Given the description of an element on the screen output the (x, y) to click on. 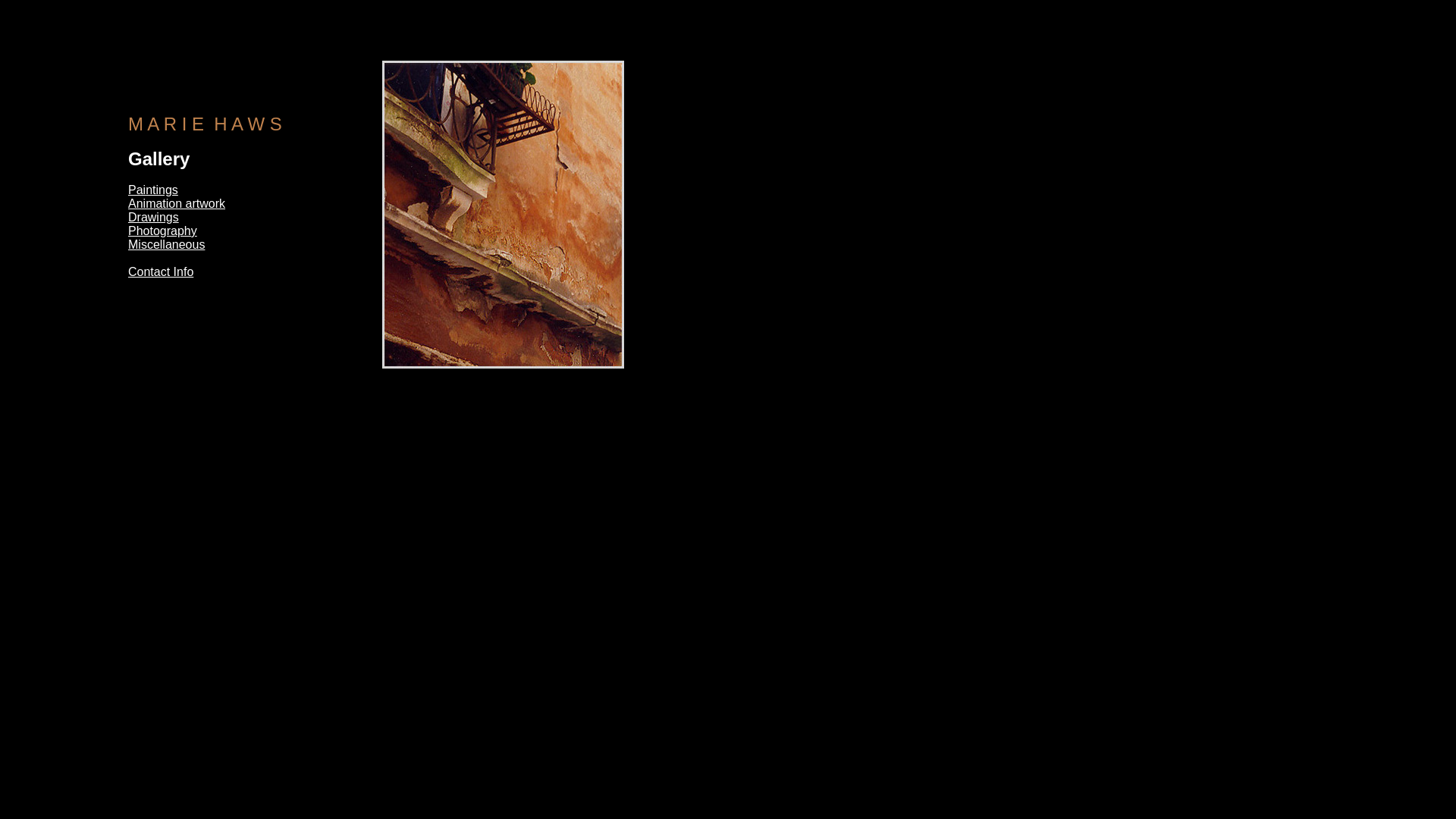
Contact Info Element type: text (160, 271)
Miscellaneous Element type: text (166, 244)
Photography Element type: text (162, 230)
Paintings Element type: text (153, 189)
Animation artwork Element type: text (176, 203)
Drawings Element type: text (153, 216)
